Given the description of an element on the screen output the (x, y) to click on. 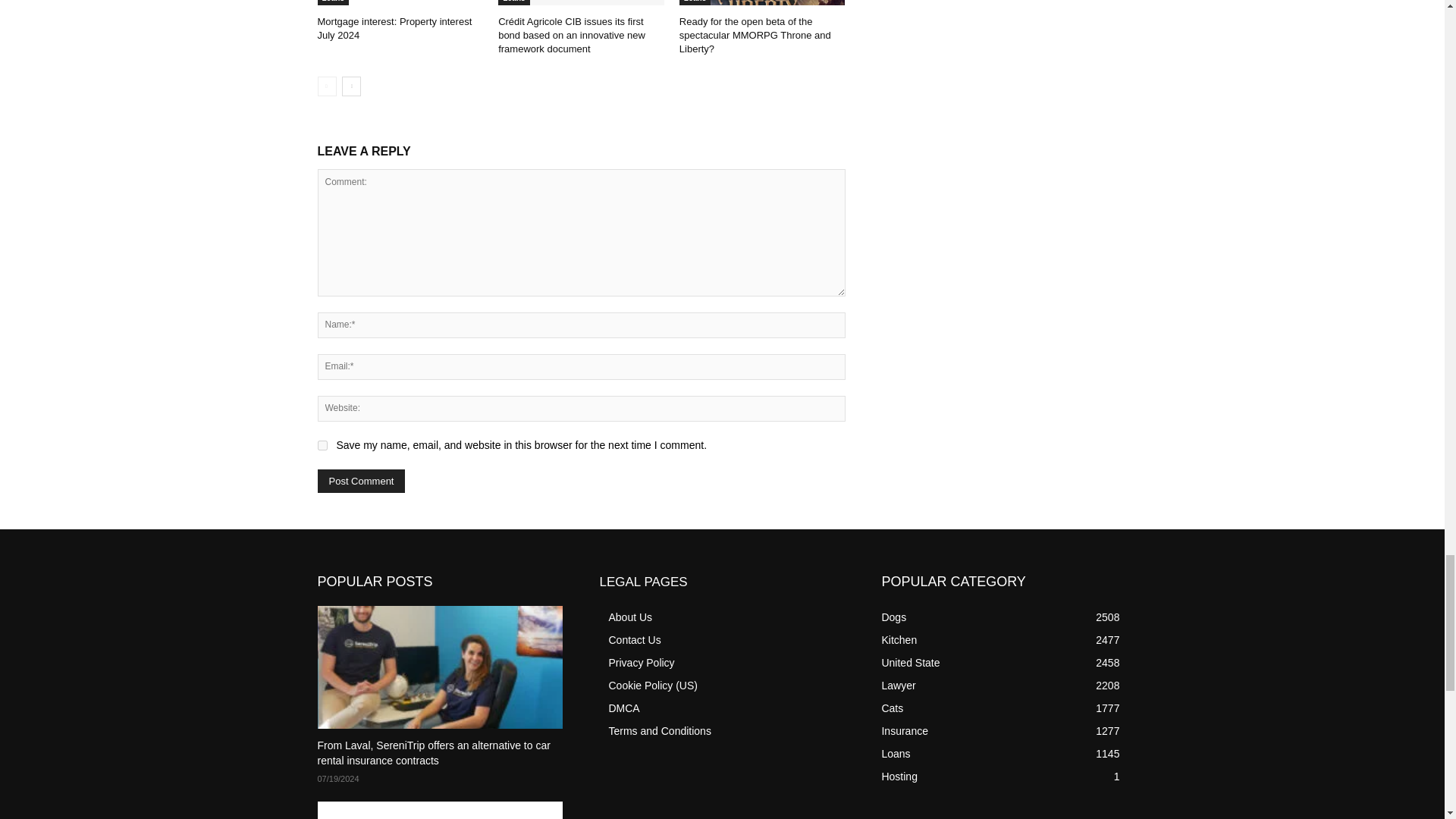
Post Comment (360, 481)
yes (321, 445)
